Given the description of an element on the screen output the (x, y) to click on. 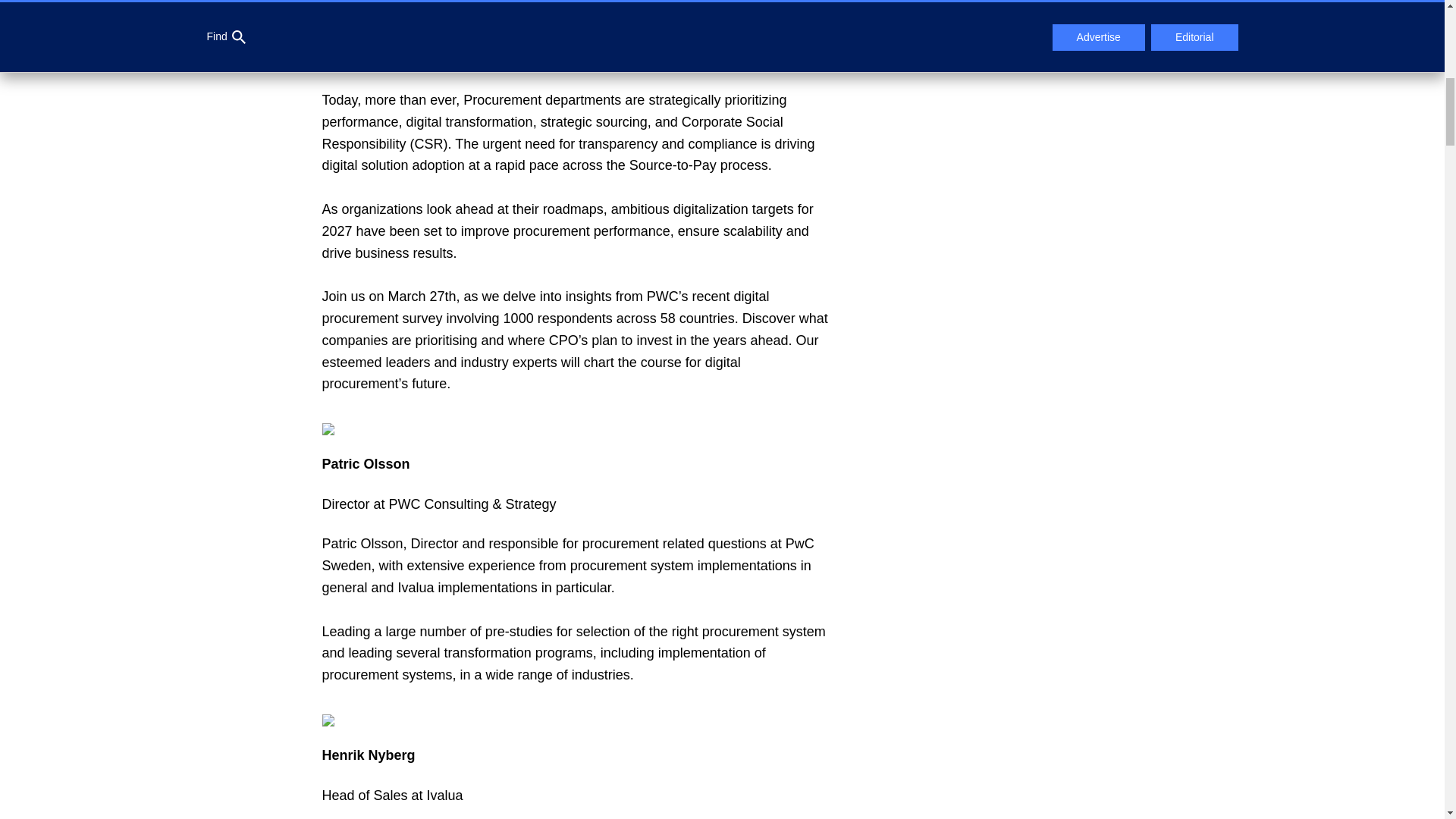
View on map (938, 33)
